Given the description of an element on the screen output the (x, y) to click on. 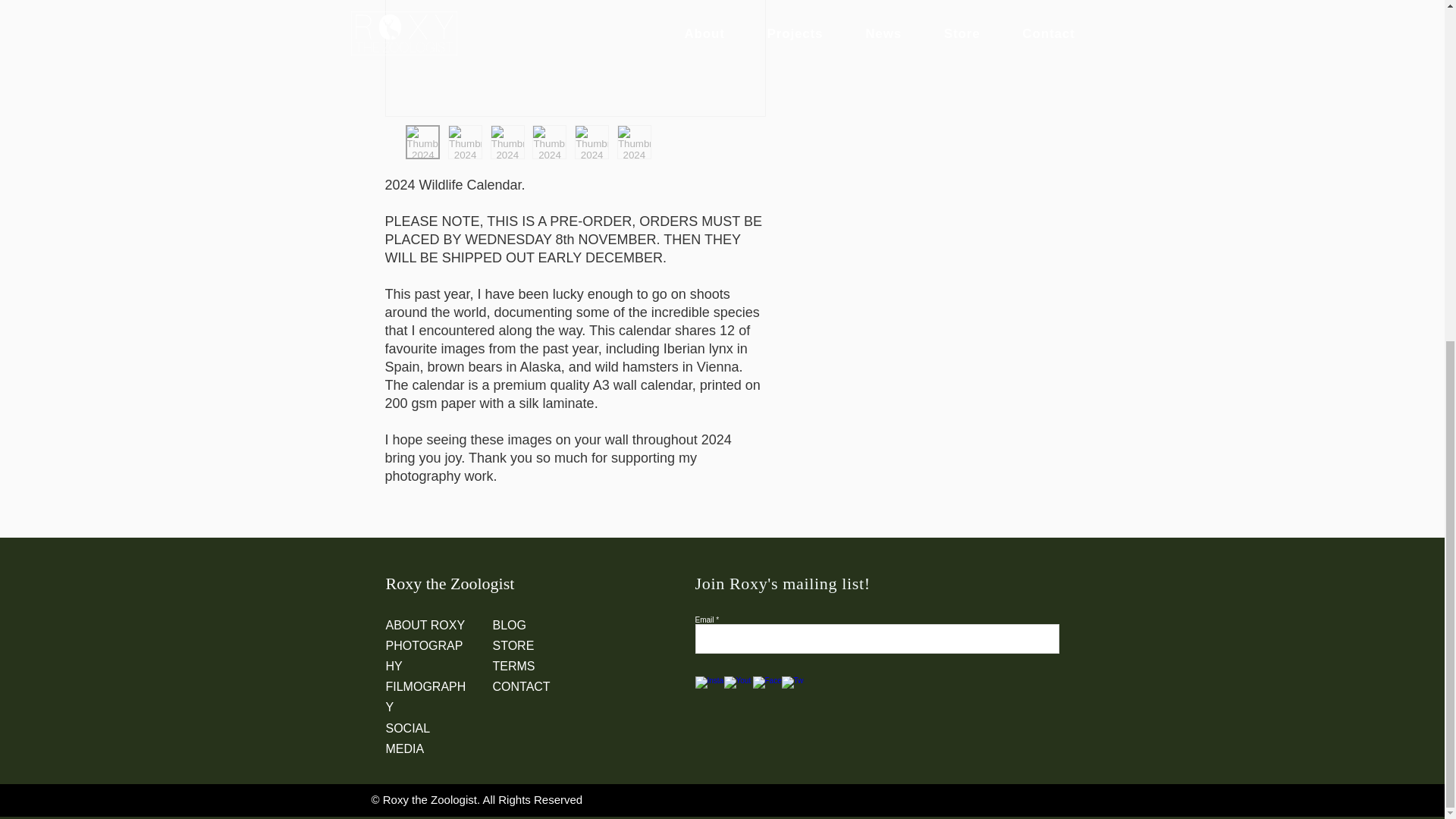
PHOTOGRAPHY (424, 655)
CONTACT (521, 686)
Subscribe (1032, 637)
FILMOGRAPHY (425, 696)
TERMS (514, 666)
SOCIAL MEDIA (407, 738)
BLOG (509, 625)
ABOUT ROXY (424, 625)
STORE (513, 645)
